Given the description of an element on the screen output the (x, y) to click on. 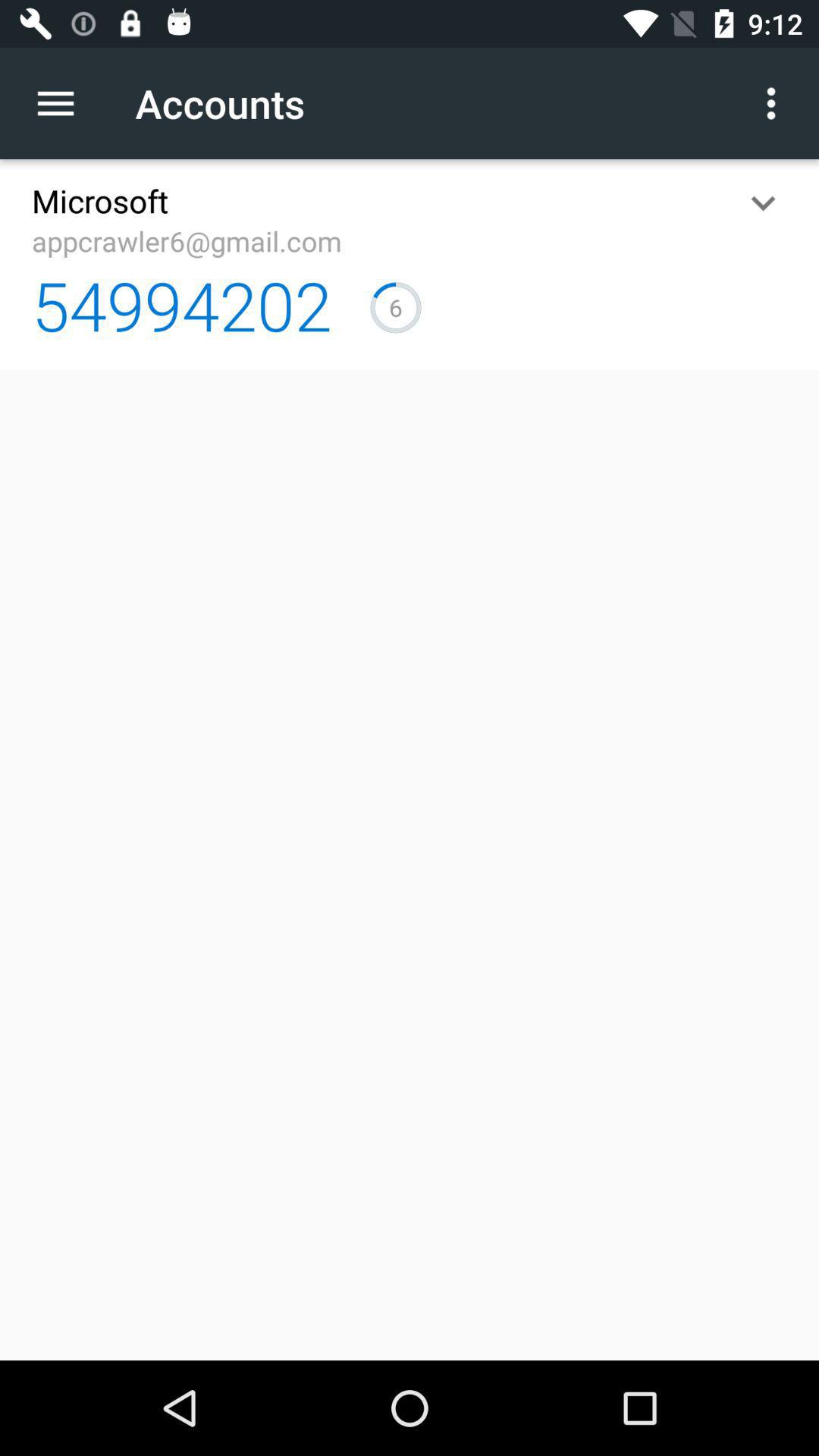
open the icon to the right of appcrawler6@gmail.com app (763, 202)
